Given the description of an element on the screen output the (x, y) to click on. 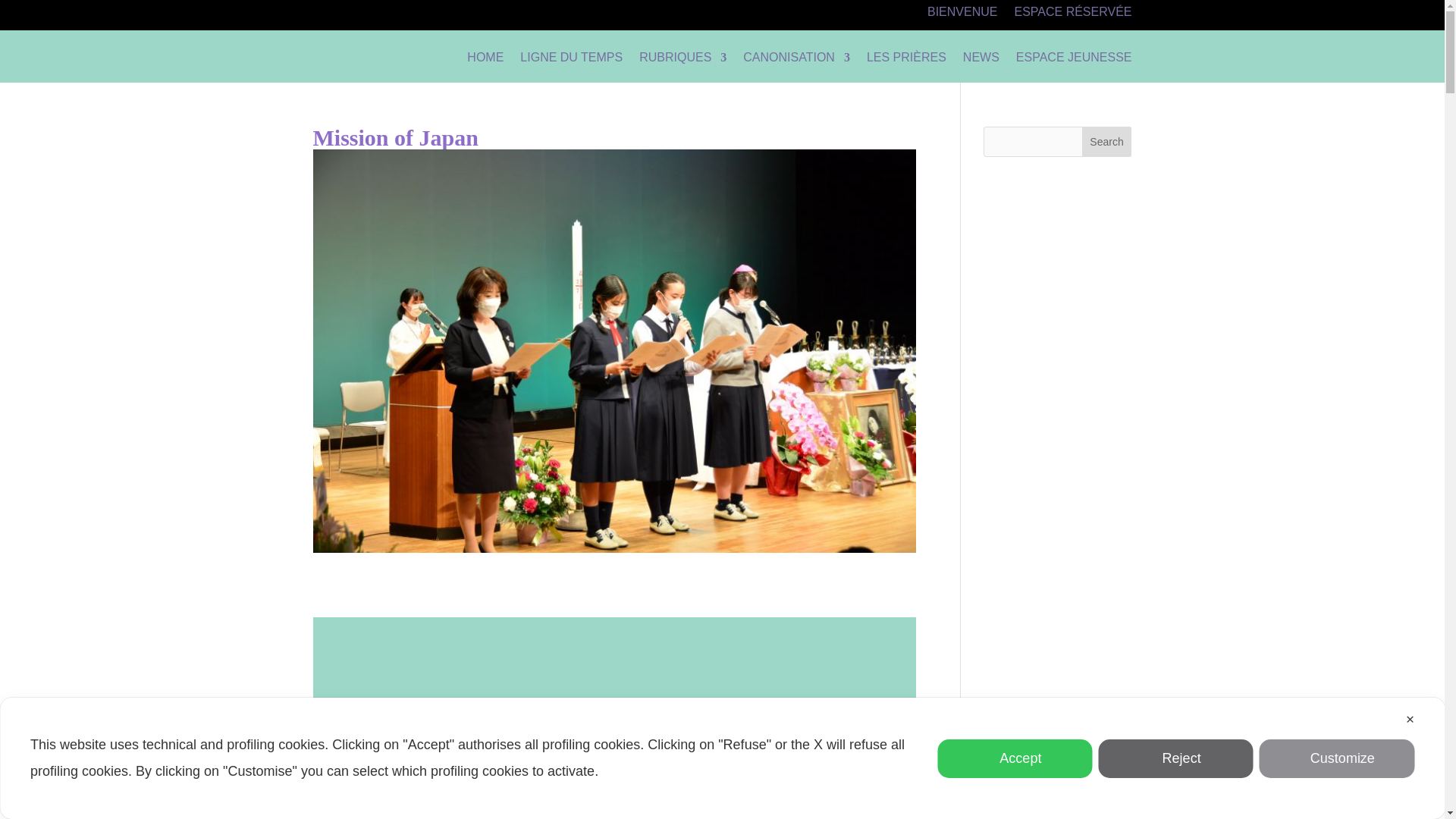
LIGNE DU TEMPS (571, 60)
NEWS (980, 60)
RUBRIQUES (682, 60)
ESPACE JEUNESSE (1074, 60)
HOME (485, 60)
CANONISATION (796, 60)
BIENVENUE (962, 14)
